Given the description of an element on the screen output the (x, y) to click on. 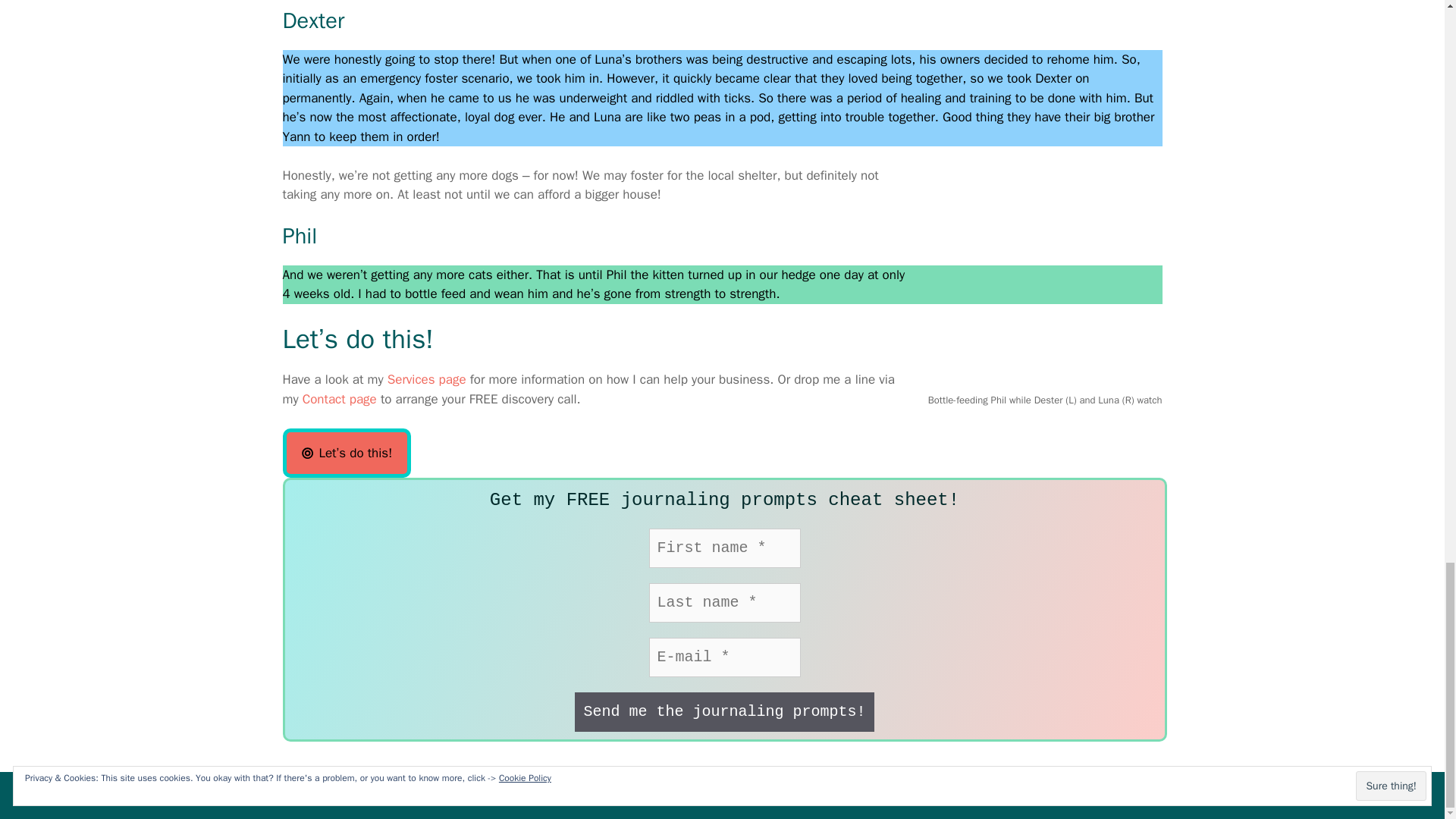
Last name (724, 602)
Send me the journaling prompts! (724, 712)
Send me the journaling prompts! (724, 712)
First name (724, 548)
Contact page (339, 399)
E-mail (724, 657)
Services page (426, 379)
